Given the description of an element on the screen output the (x, y) to click on. 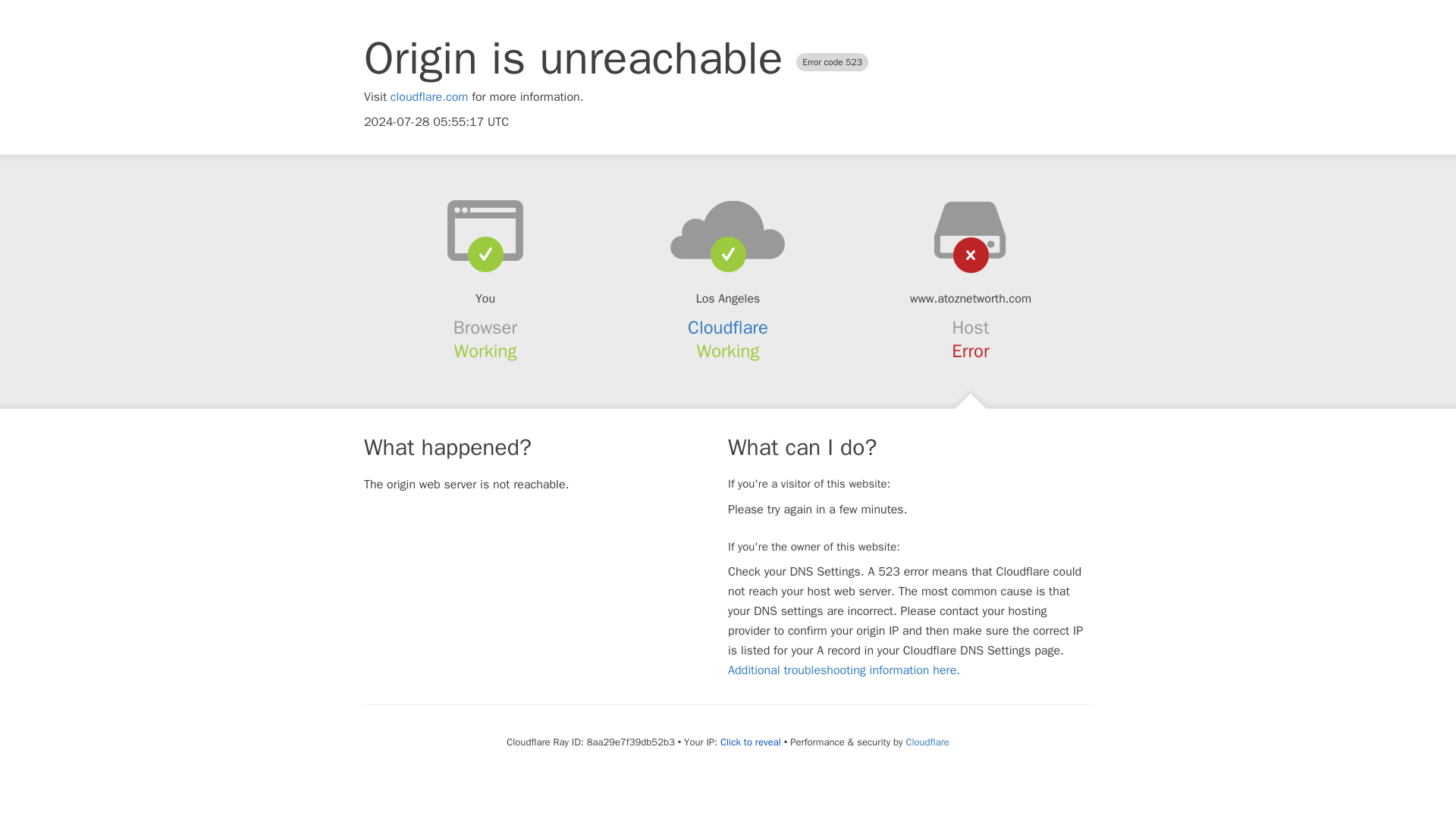
Cloudflare (727, 327)
Click to reveal (750, 742)
Additional troubleshooting information here. (843, 670)
Cloudflare (927, 741)
cloudflare.com (429, 96)
